Given the description of an element on the screen output the (x, y) to click on. 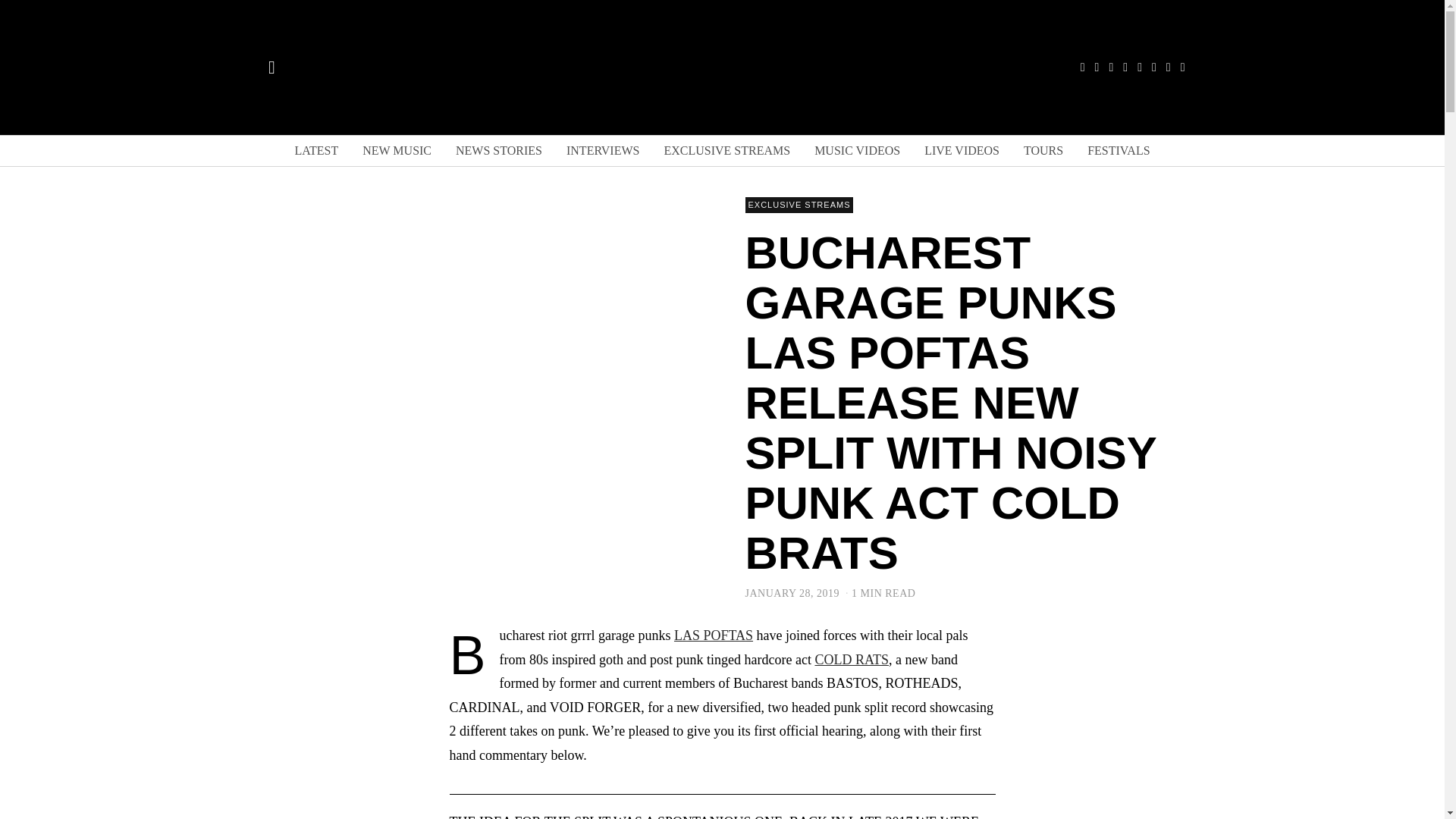
TOURS (1043, 150)
NEW MUSIC (397, 150)
LIVE VIDEOS (962, 150)
FESTIVALS (1118, 150)
NEWS STORIES (499, 150)
LATEST (316, 150)
INTERVIEWS (602, 150)
MUSIC VIDEOS (857, 150)
EXCLUSIVE STREAMS (726, 150)
Latest Articles from All Categories (316, 150)
